Given the description of an element on the screen output the (x, y) to click on. 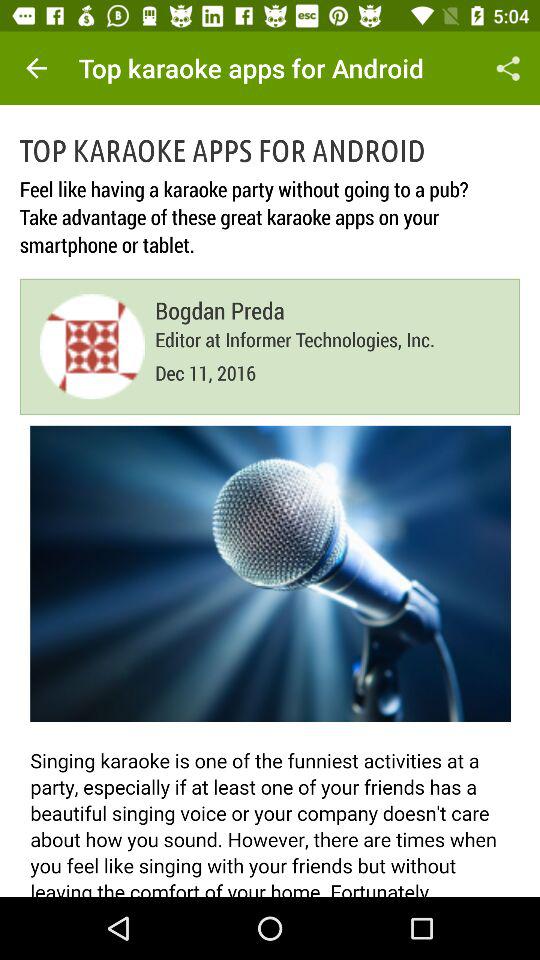
select the share icon (508, 68)
